Given the description of an element on the screen output the (x, y) to click on. 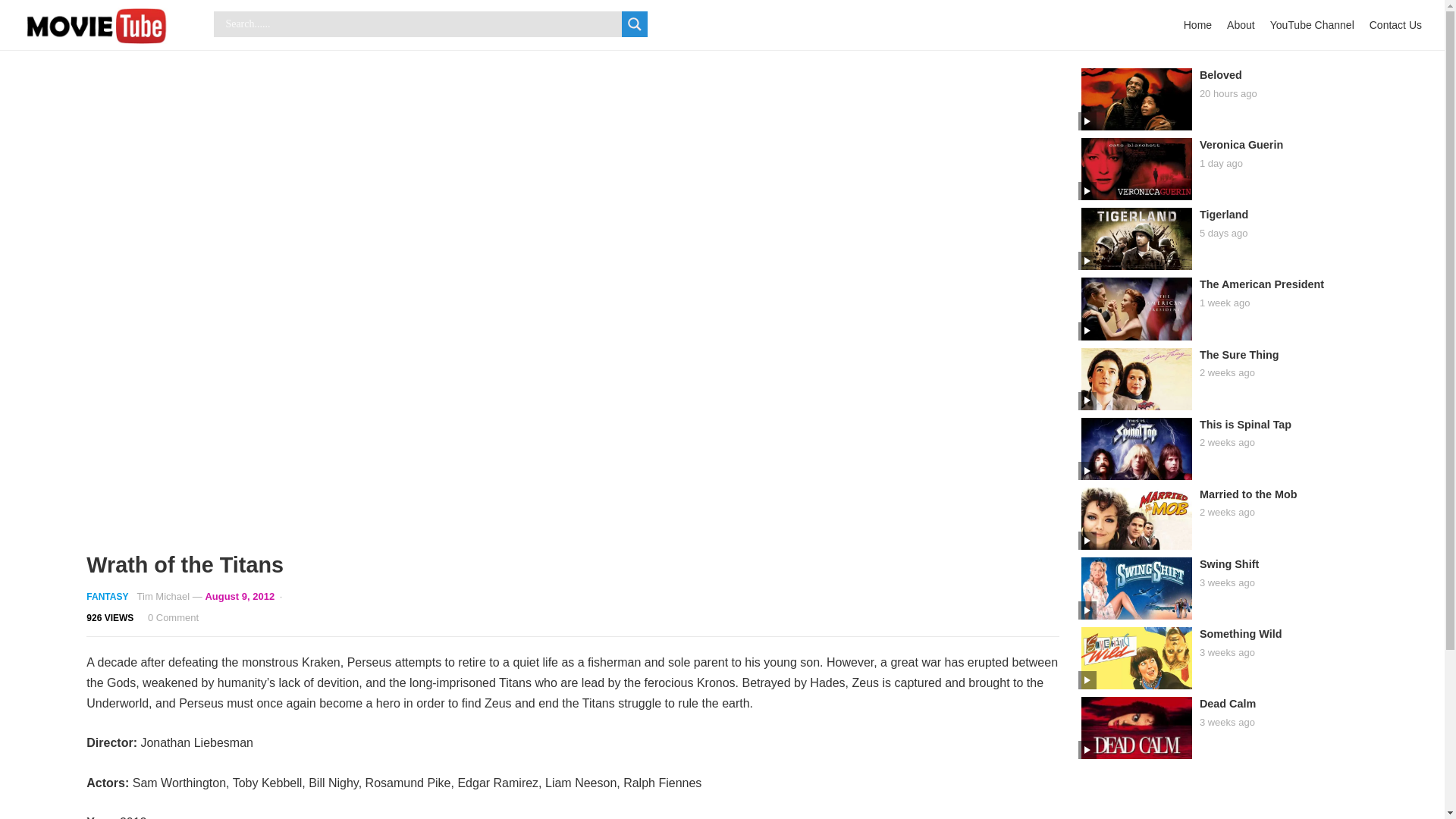
Tim Michael (163, 595)
The American President (1261, 284)
The Sure Thing (1239, 354)
Tigerland (1224, 214)
FANTASY (106, 596)
0 Comment (173, 617)
YouTube Channel (1311, 24)
Contact Us (1396, 24)
Beloved (1220, 74)
Veronica Guerin (1240, 144)
